Given the description of an element on the screen output the (x, y) to click on. 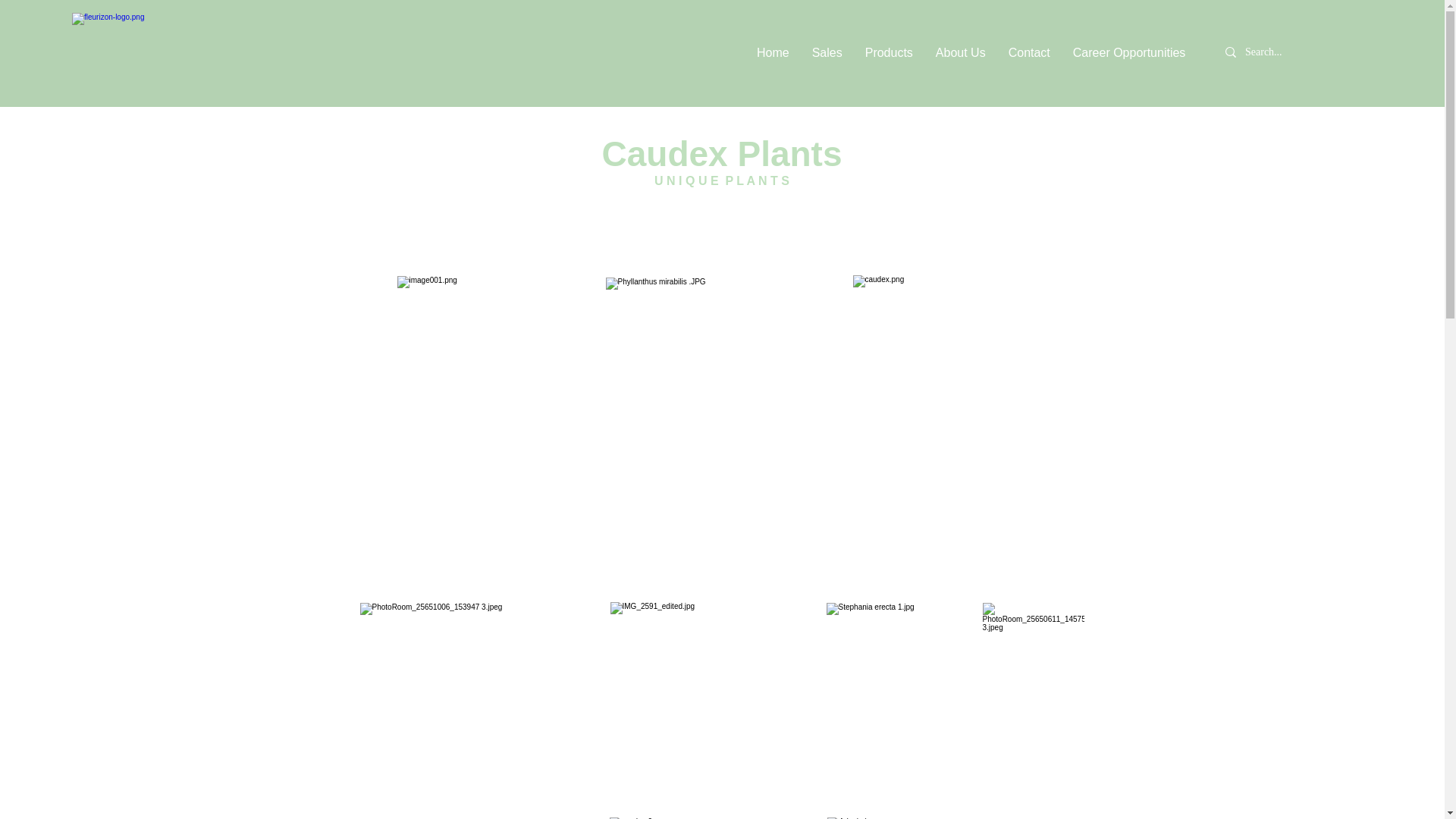
Screen Shot 2023-11-16 at 2.20.05 PM.png (711, 689)
About Us (960, 53)
Career Opportunities (1128, 53)
Products (888, 53)
Contact (1029, 53)
Home (772, 53)
Newsletter (1236, 53)
Screen Shot 2023-11-16 at 2.20.05 PM.png (477, 710)
Sales (826, 53)
